Given the description of an element on the screen output the (x, y) to click on. 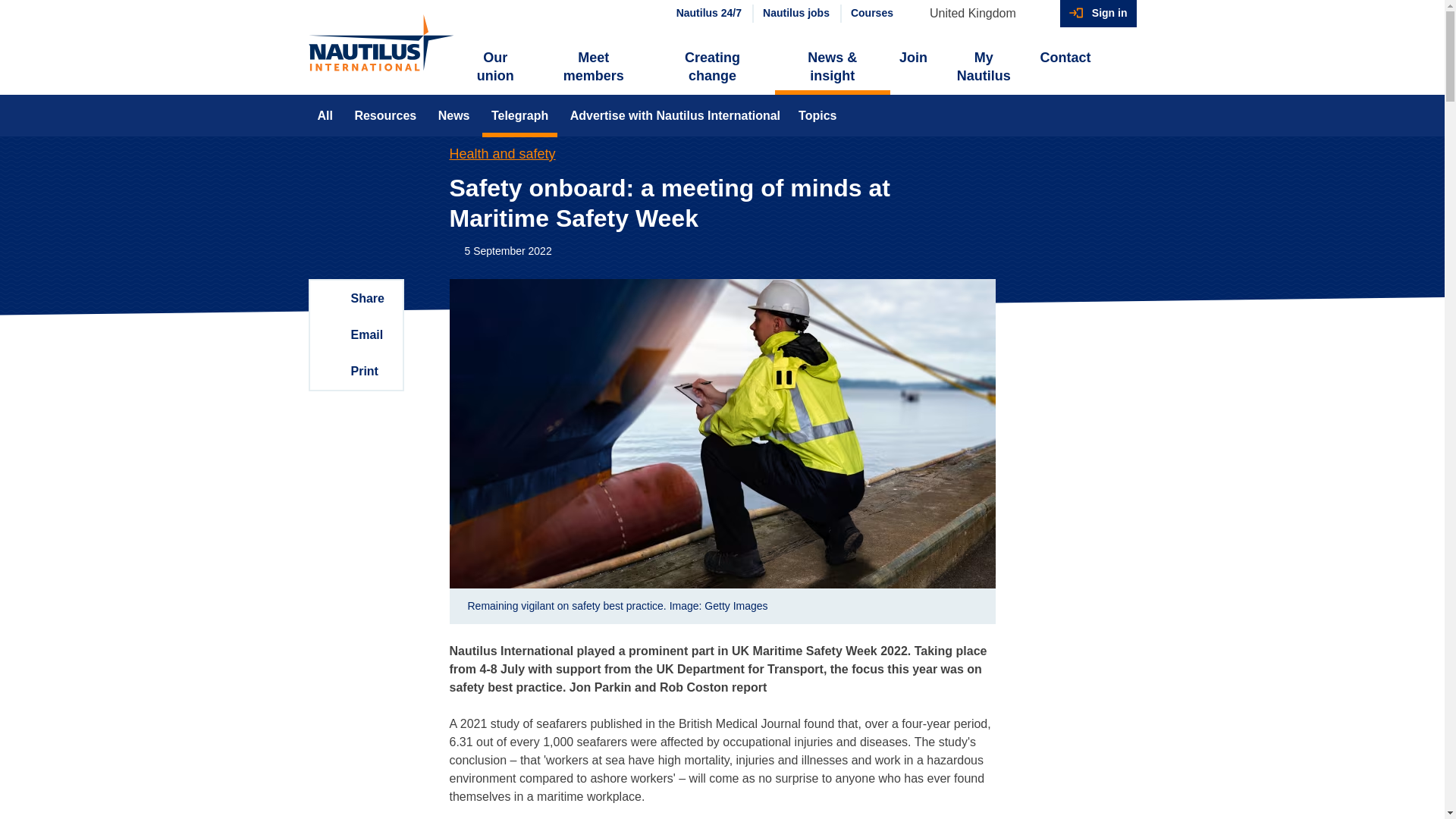
Meet members (593, 67)
Courses (871, 13)
United Kingdom (979, 13)
Creating change (711, 67)
Our union (495, 67)
Sign in (1098, 13)
Contact (1065, 58)
Nautilus jobs (795, 13)
My Nautilus (983, 67)
